Given the description of an element on the screen output the (x, y) to click on. 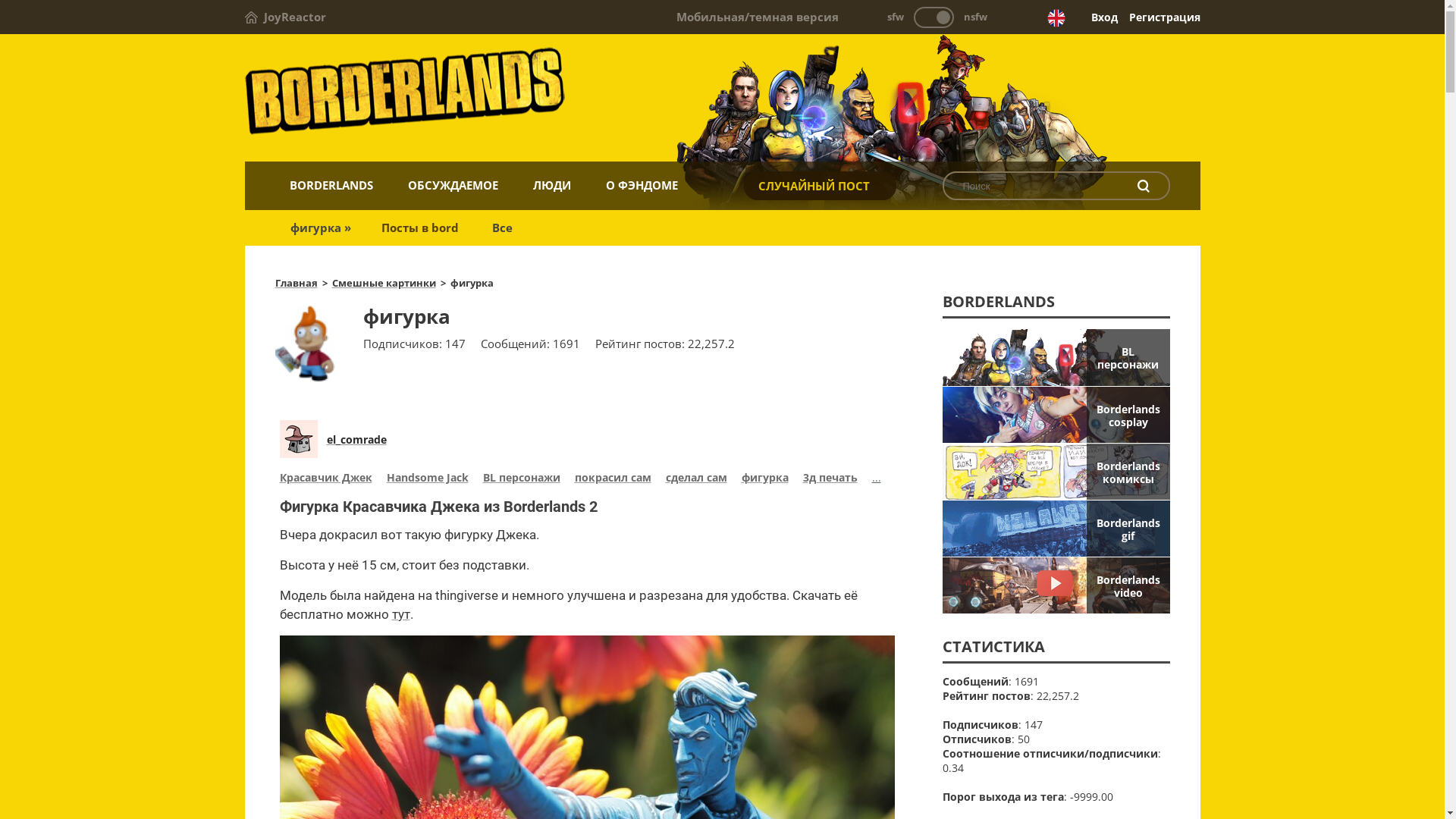
Borderlands gif Element type: text (1055, 528)
Borderlands Element type: text (721, 98)
Handsome Jack Element type: text (427, 479)
el_comrade Element type: text (355, 439)
Borderlands cosplay Element type: text (1055, 414)
Borderlands video Element type: text (1055, 585)
JoyReactor Element type: text (284, 17)
English version Element type: hover (1055, 18)
BORDERLANDS Element type: text (330, 184)
